Given the description of an element on the screen output the (x, y) to click on. 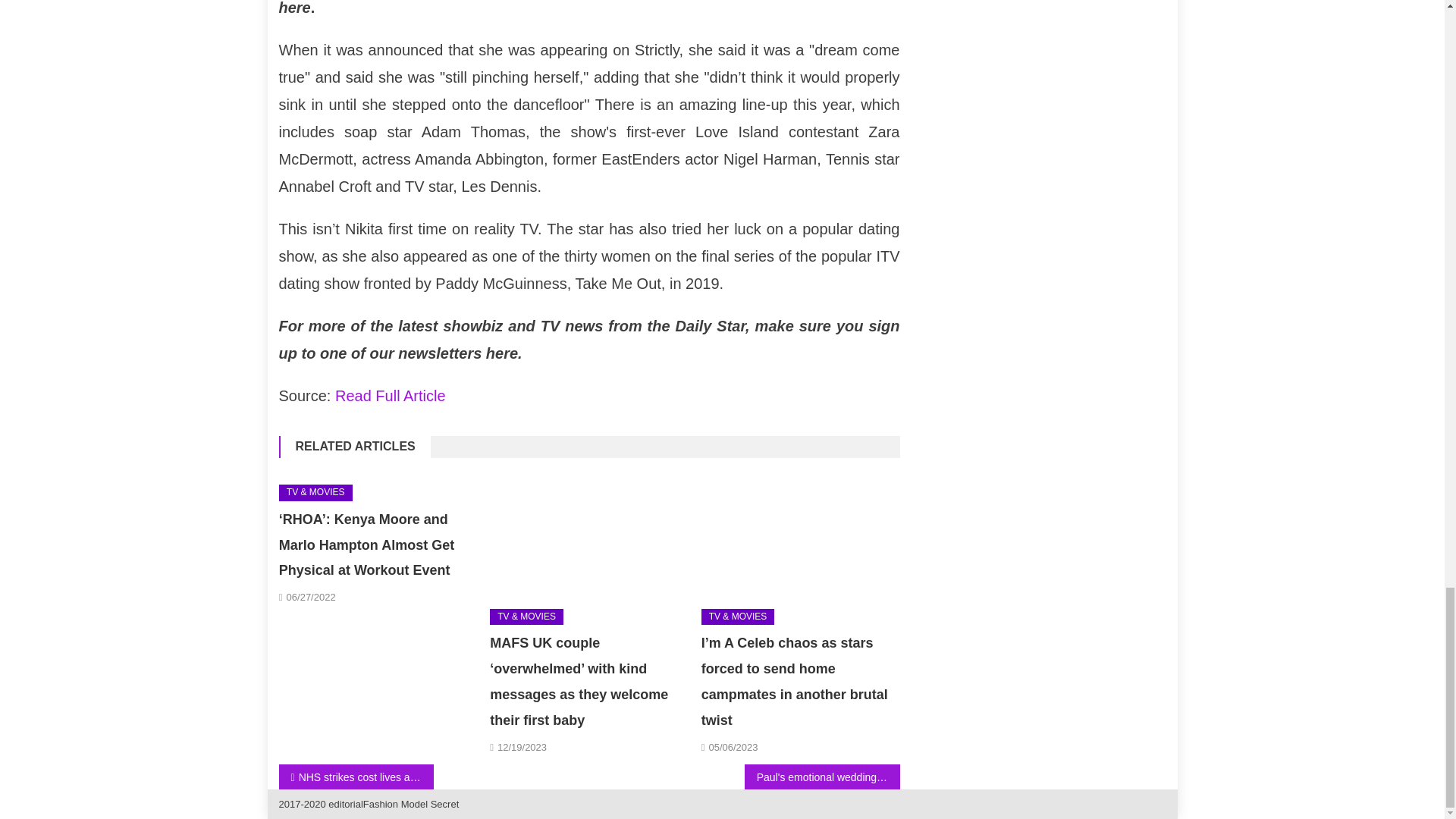
Read Full Article (389, 395)
